Given the description of an element on the screen output the (x, y) to click on. 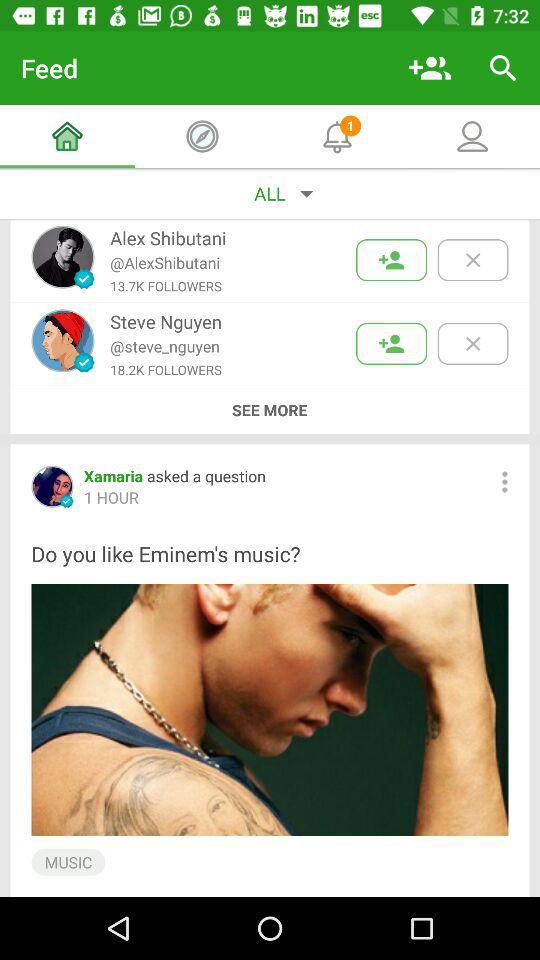
deny friend request (472, 343)
